Given the description of an element on the screen output the (x, y) to click on. 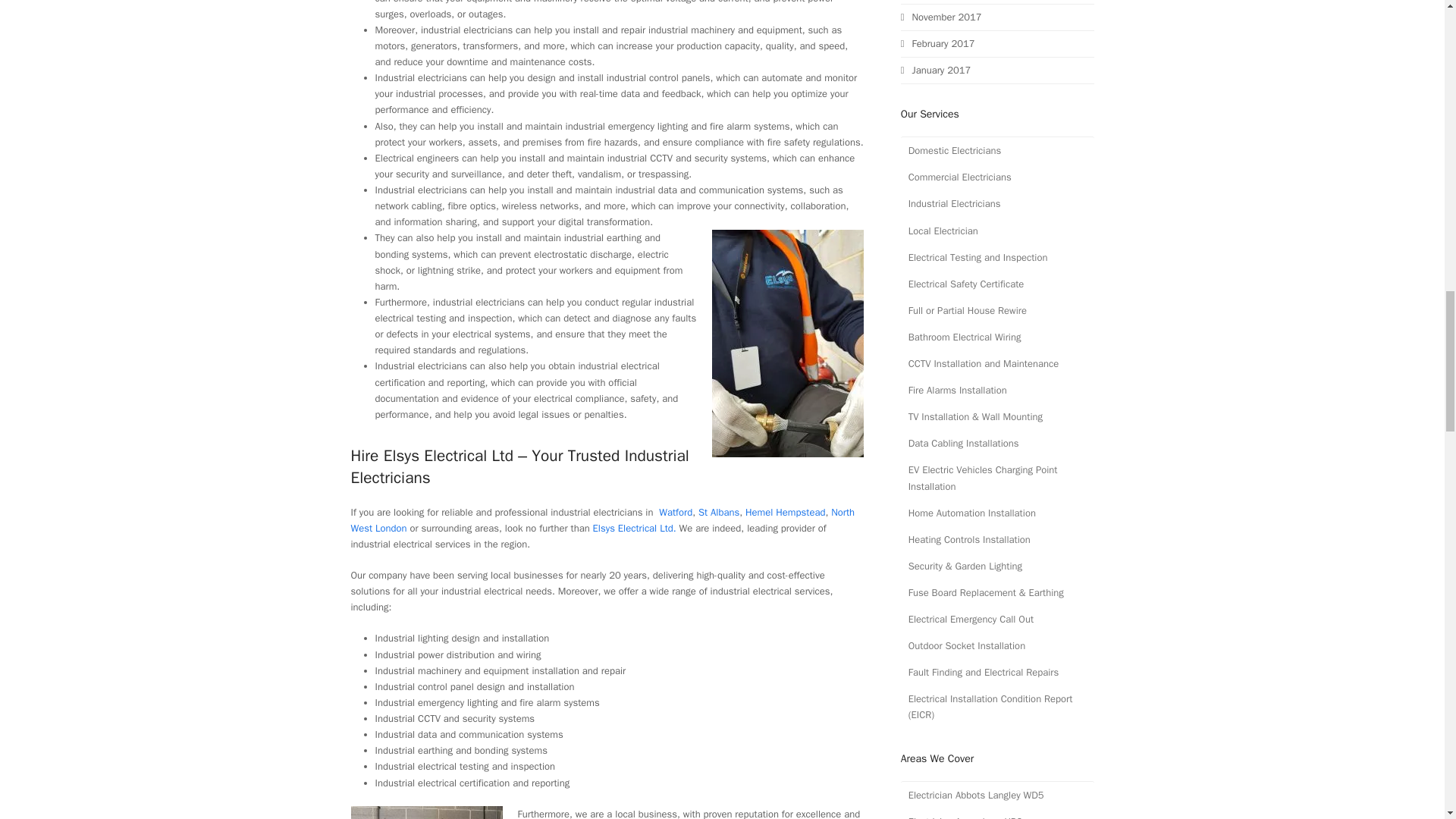
Electrician St Albans (718, 512)
Electrician North West London (602, 520)
Electrician Watford (676, 512)
Electrician Hemel Hempstead (785, 512)
